Given the description of an element on the screen output the (x, y) to click on. 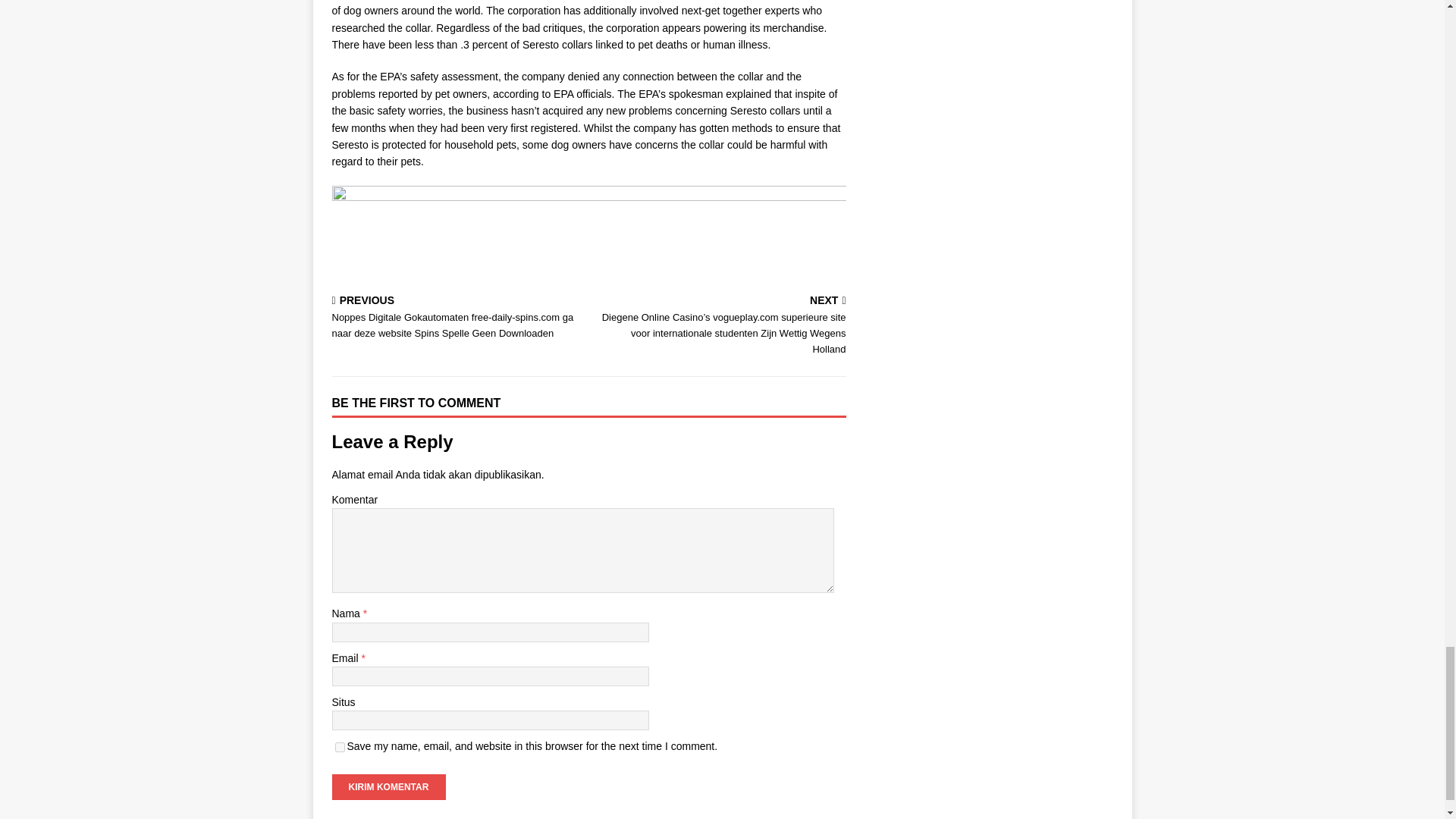
Kirim Komentar (388, 786)
yes (339, 747)
